Given the description of an element on the screen output the (x, y) to click on. 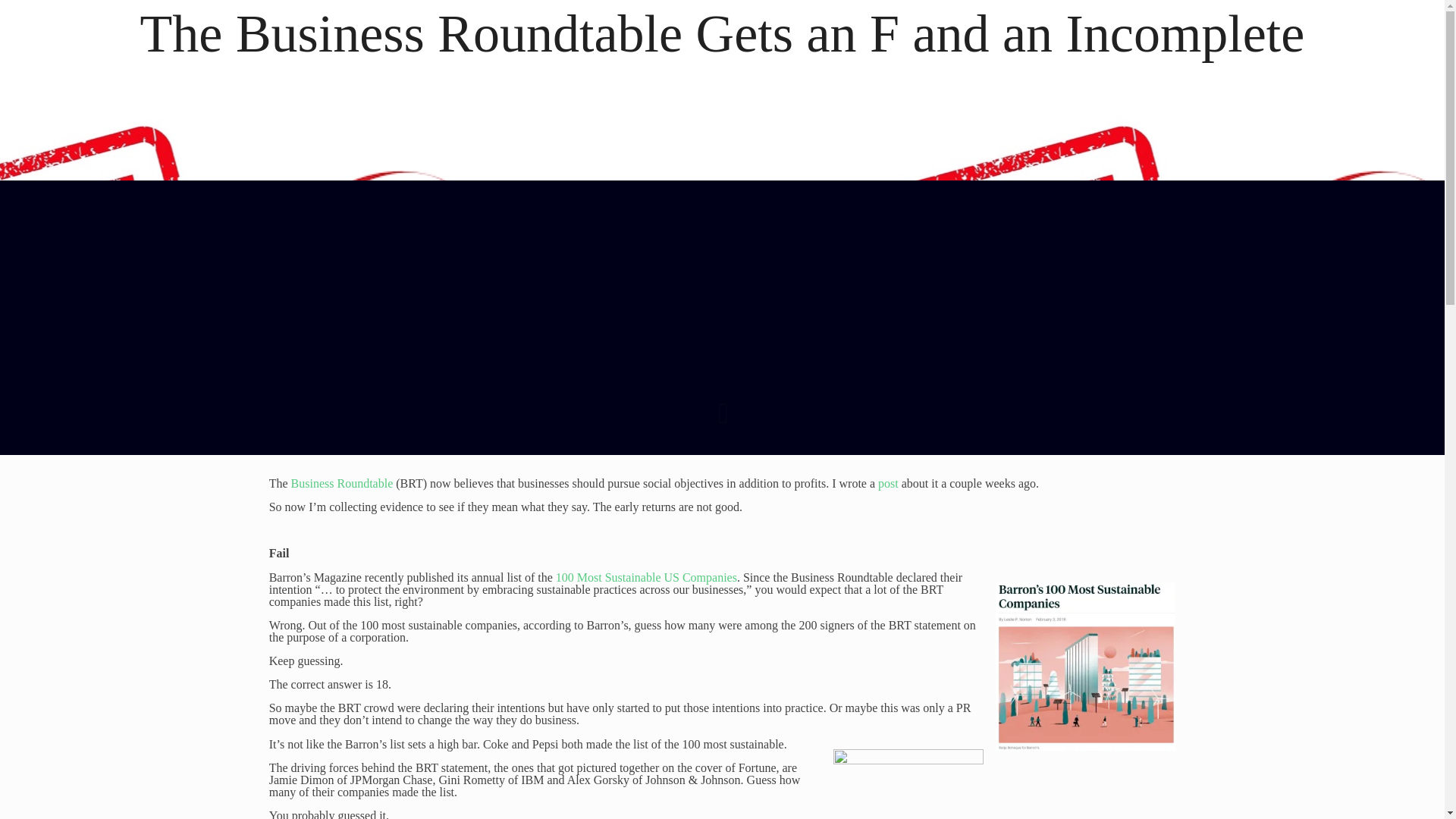
Business Roundtable (342, 482)
Facebook (690, 797)
Twitter (711, 797)
LinkedIn (731, 797)
Submit (317, 698)
100 Most Sustainable US Companies (646, 576)
post (887, 482)
Instagram (752, 797)
Submit (317, 698)
